Given the description of an element on the screen output the (x, y) to click on. 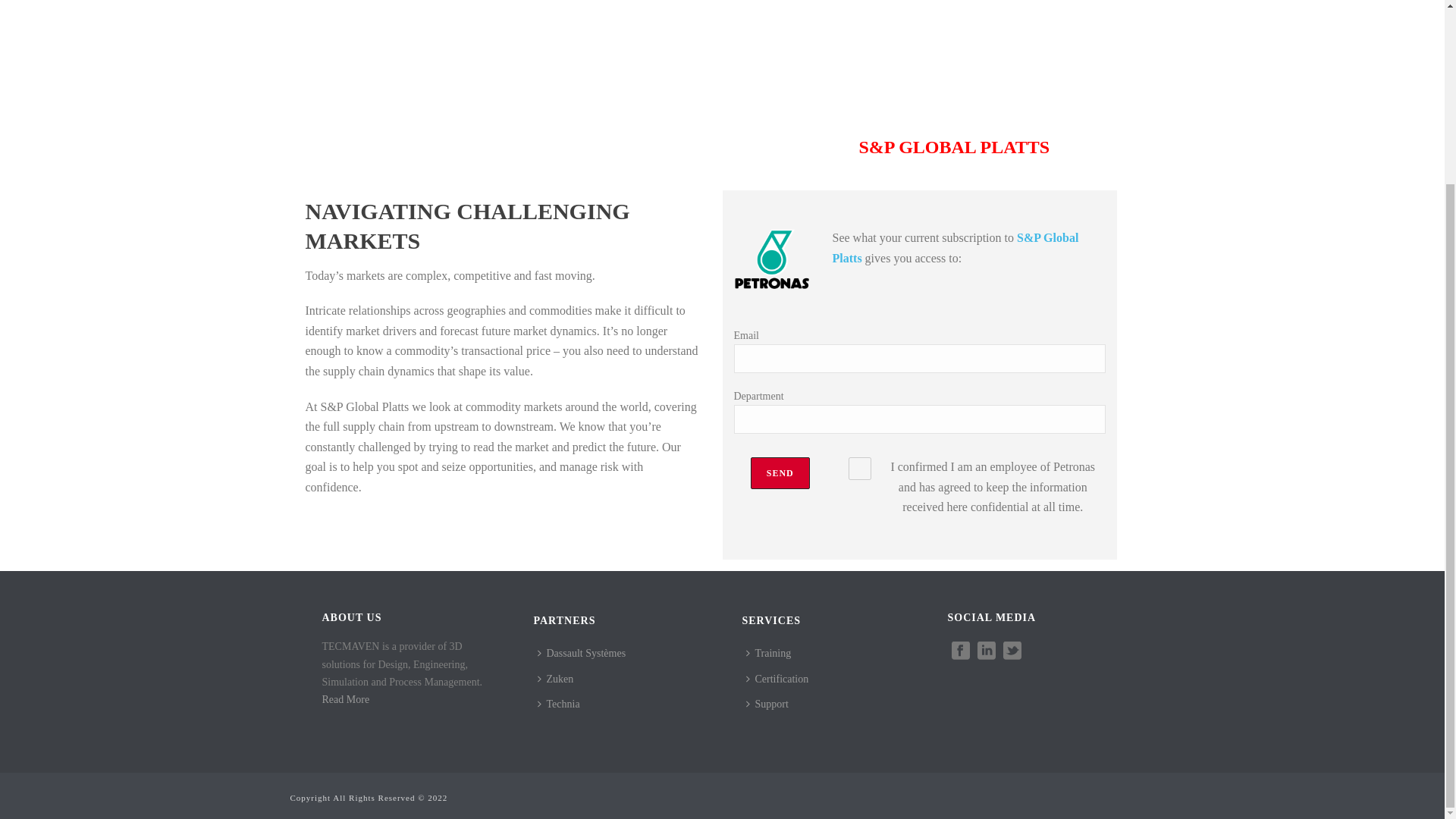
1 (859, 468)
Send (780, 472)
 facebook (959, 651)
